Given the description of an element on the screen output the (x, y) to click on. 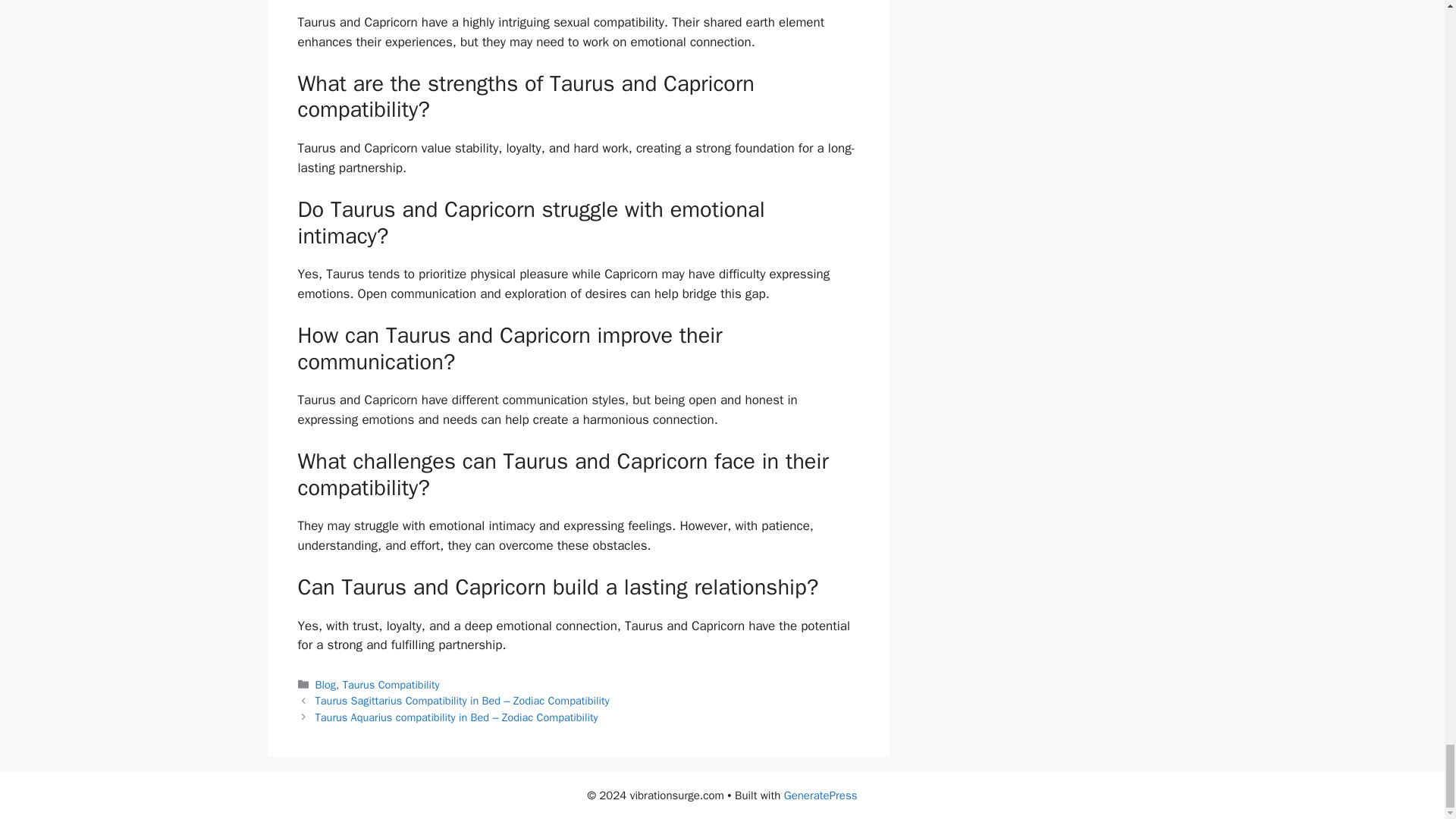
Taurus Compatibility (390, 684)
Blog (325, 684)
